Given the description of an element on the screen output the (x, y) to click on. 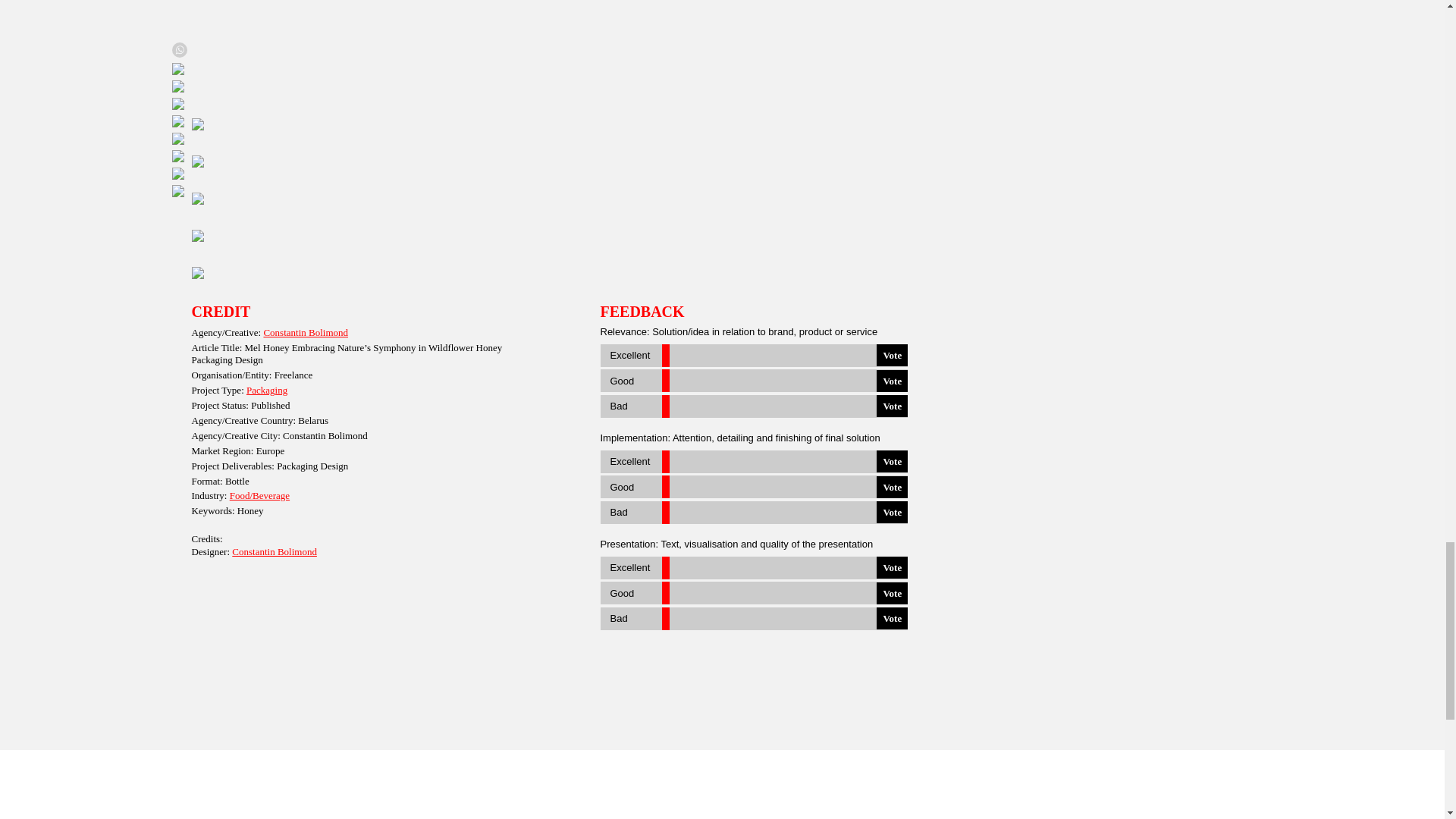
Constantin Bolimond (274, 551)
Constantin Bolimond (305, 332)
Packaging (266, 389)
